Given the description of an element on the screen output the (x, y) to click on. 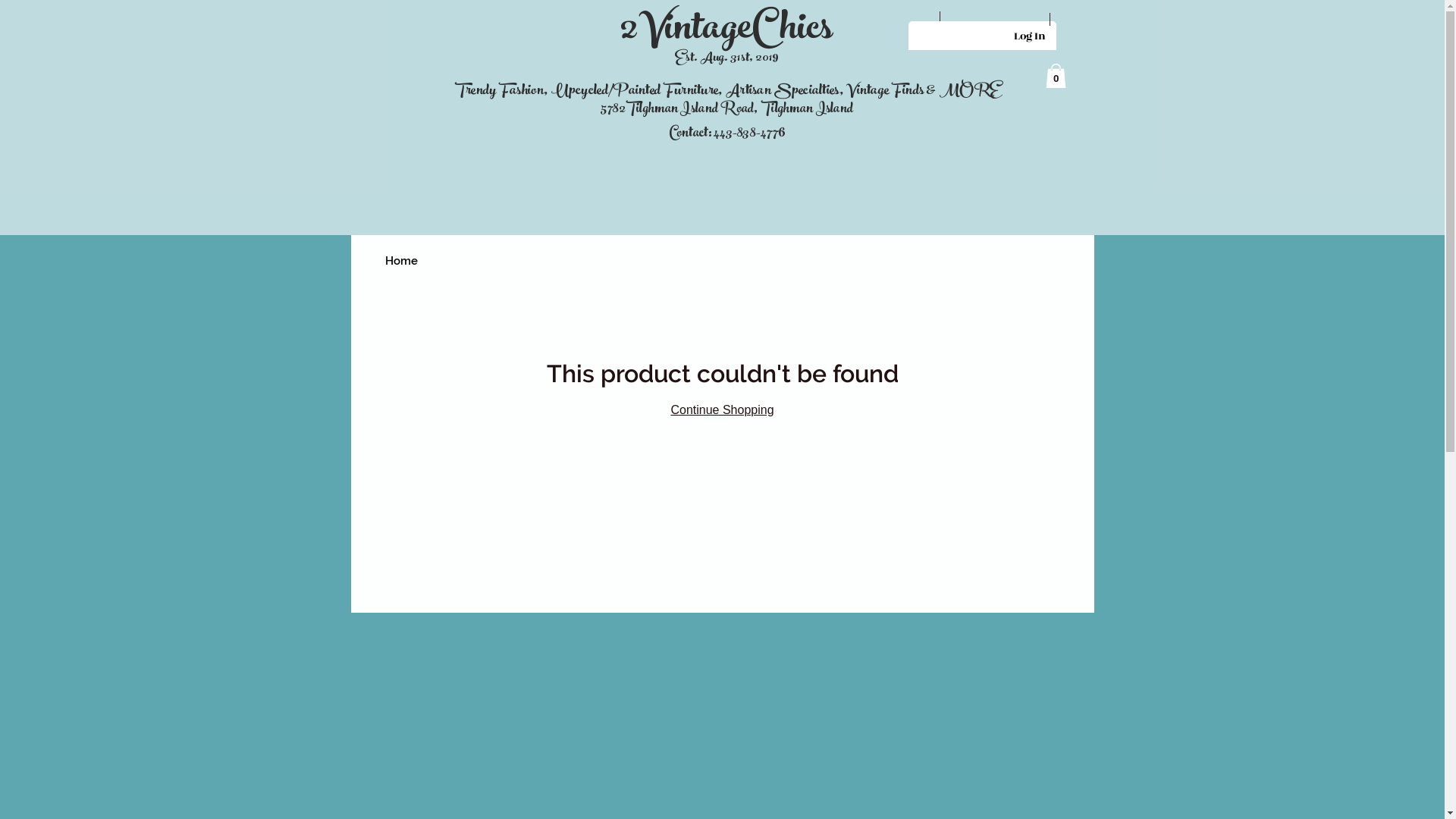
Continue Shopping Element type: text (721, 409)
0 Element type: text (1054, 75)
Log In Element type: text (1028, 34)
Home Element type: text (401, 260)
